Given the description of an element on the screen output the (x, y) to click on. 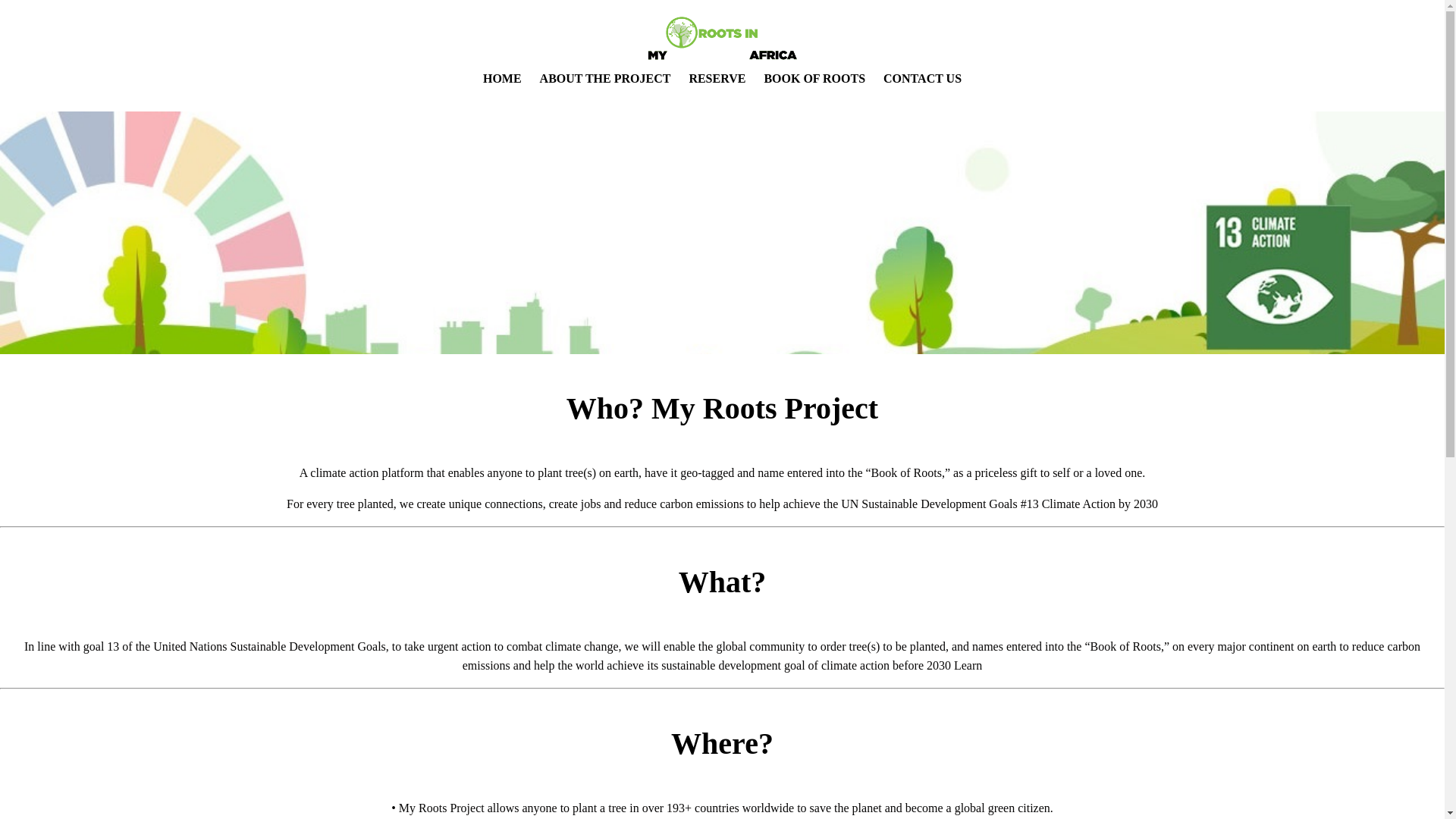
BOOK OF ROOTS (813, 78)
CONTACT US (922, 78)
My-Roots-In-Africa-Logo-A (721, 40)
RESERVE (716, 78)
HOME (502, 78)
ABOUT THE PROJECT (605, 78)
